Given the description of an element on the screen output the (x, y) to click on. 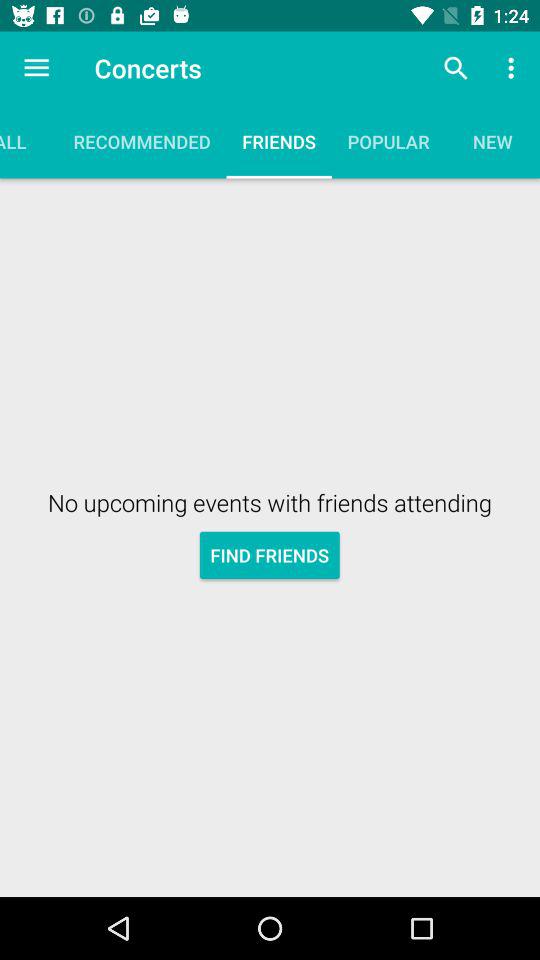
jump to find friends (269, 554)
